Given the description of an element on the screen output the (x, y) to click on. 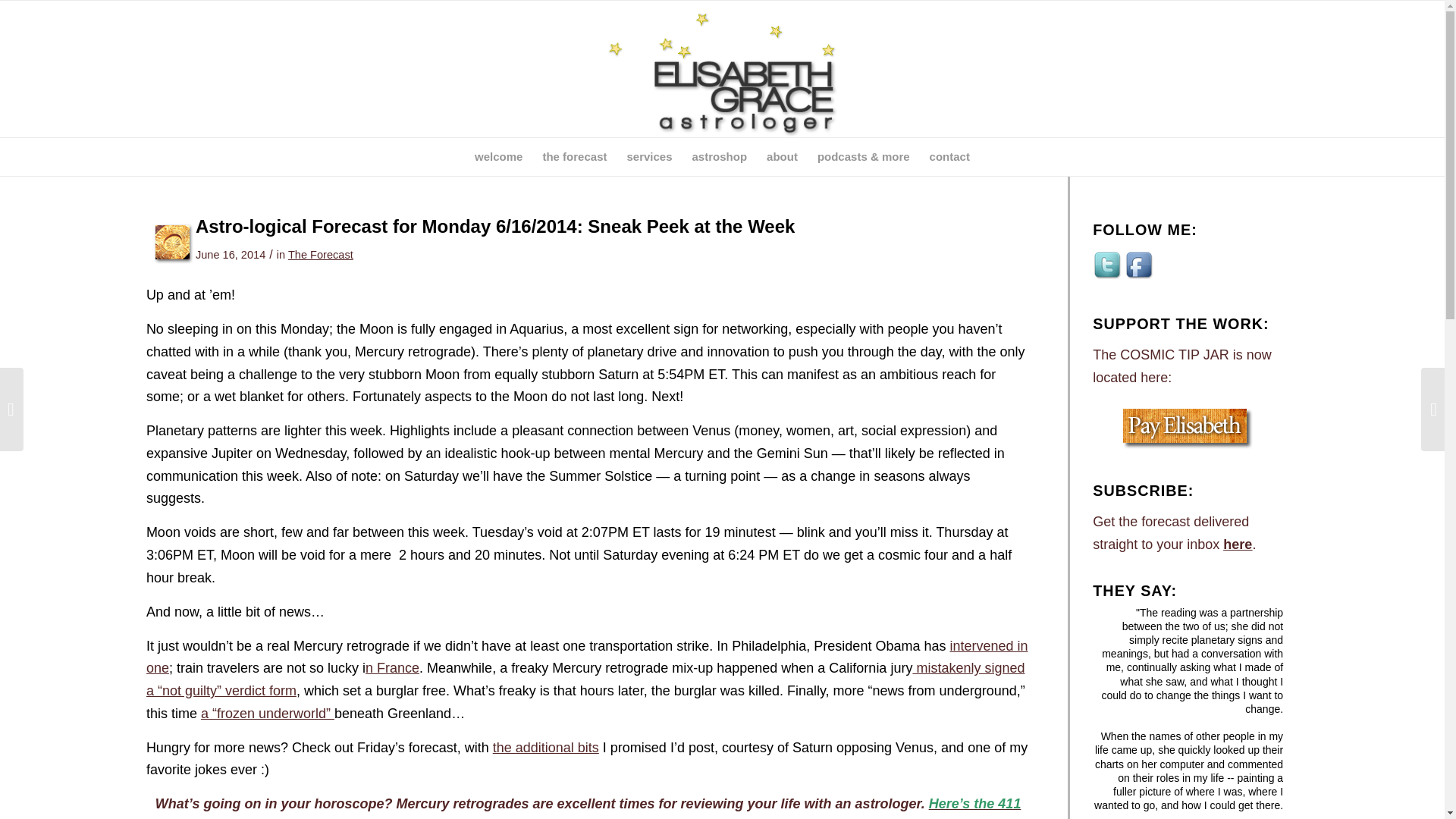
the forecast (573, 157)
contact (949, 157)
the additional bits (545, 747)
n France (392, 667)
astroshop (719, 157)
logogold (721, 68)
intervened in one (587, 657)
Follow us on Facebook (1140, 265)
about (782, 157)
The Forecast (320, 254)
